Given the description of an element on the screen output the (x, y) to click on. 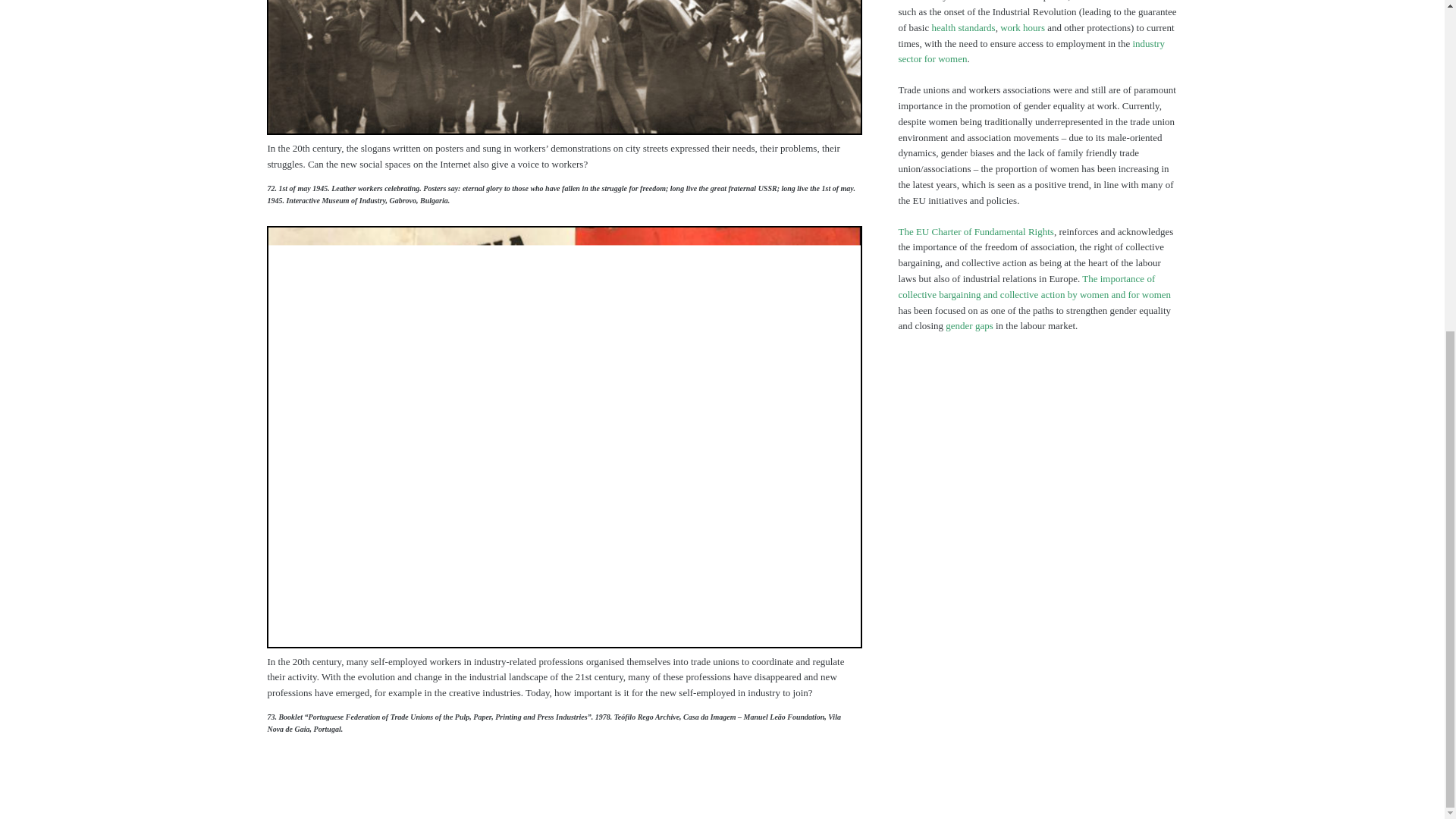
health standards (962, 27)
industry sector for women (1031, 51)
work hours (1022, 27)
gender gaps (968, 325)
association (563, 232)
The EU Charter of Fundamental Rights (975, 231)
